Given the description of an element on the screen output the (x, y) to click on. 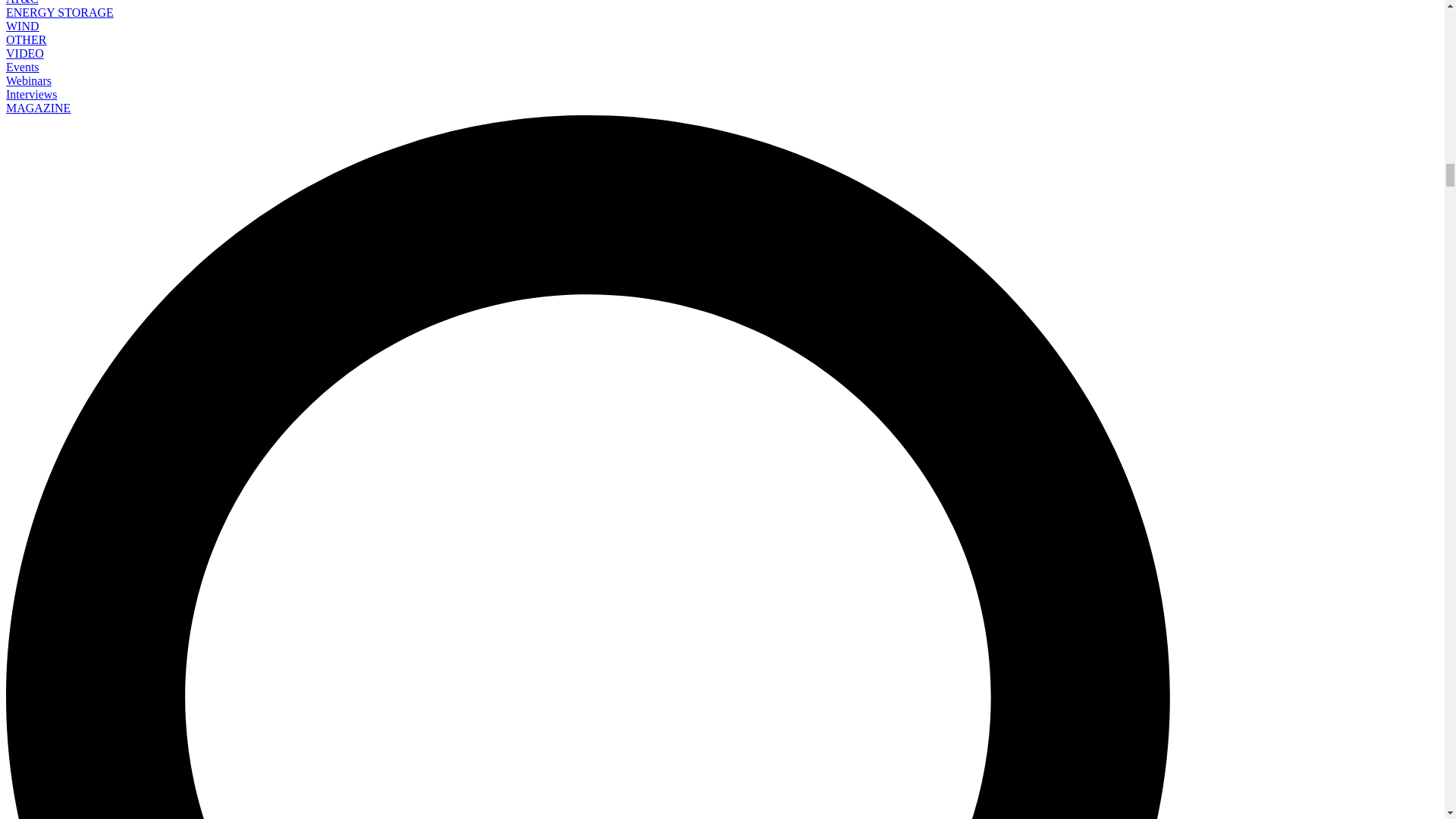
Events (22, 66)
OTHER (25, 39)
VIDEO (24, 52)
Interviews (31, 93)
WIND (22, 25)
Webinars (27, 80)
ENERGY STORAGE (59, 11)
